Given the description of an element on the screen output the (x, y) to click on. 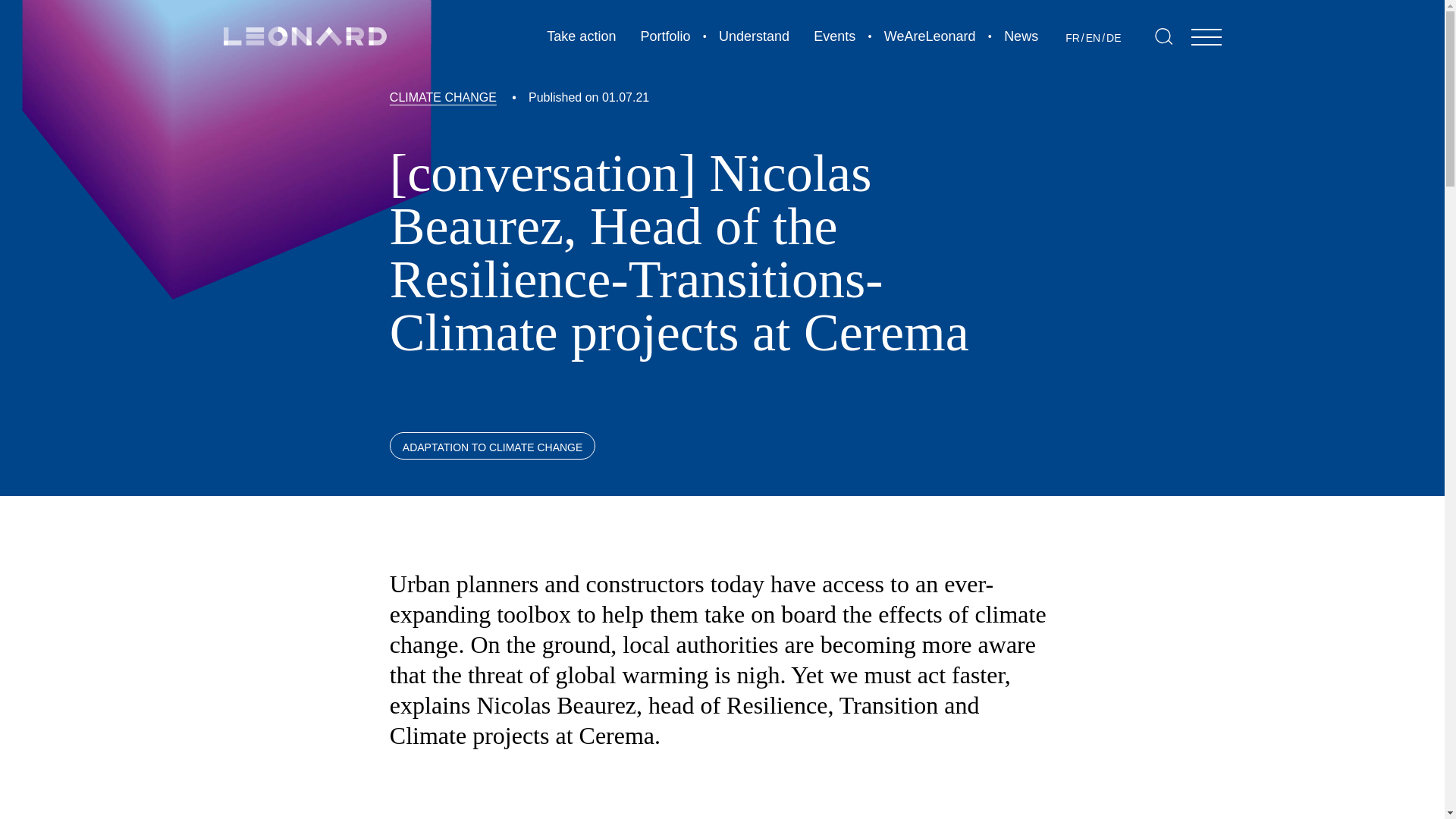
News (1021, 36)
Portfolio (665, 36)
Display the menu (1206, 36)
FR (1072, 37)
Events (834, 36)
WeAreLeonard (929, 36)
CLIMATE CHANGE (443, 97)
Take action (581, 36)
ADAPTATION TO CLIMATE CHANGE (492, 445)
Understand (754, 36)
DE (1113, 37)
German (1113, 37)
Leonard (303, 35)
English (1093, 37)
French (1072, 37)
